Given the description of an element on the screen output the (x, y) to click on. 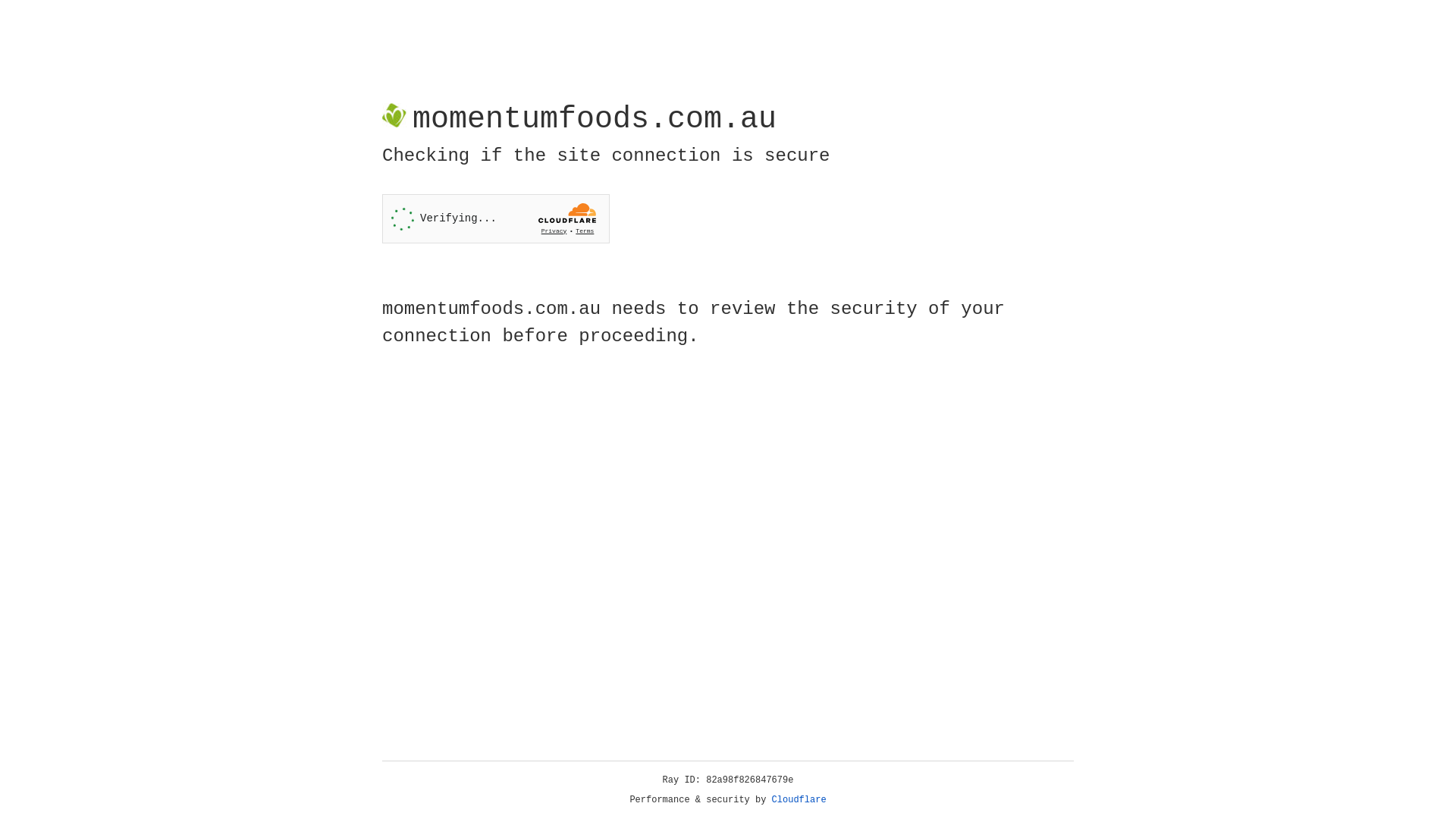
Widget containing a Cloudflare security challenge Element type: hover (495, 218)
Cloudflare Element type: text (798, 799)
